Given the description of an element on the screen output the (x, y) to click on. 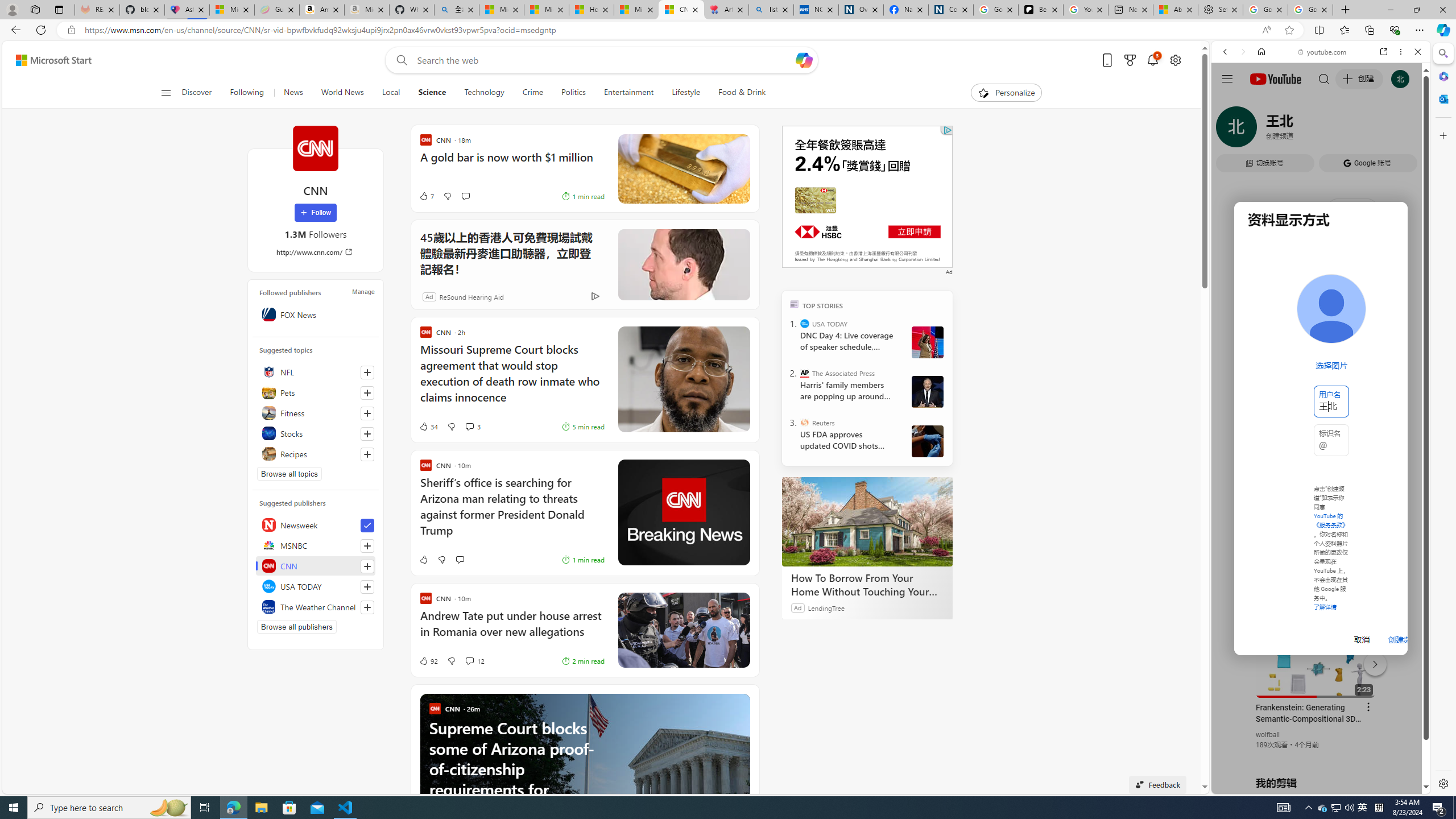
Search Filter, VIDEOS (1300, 129)
Trailer #2 [HD] (1320, 337)
Unfollow this source (367, 525)
you (1315, 755)
The Associated Press (804, 372)
WEB   (1230, 130)
Stocks (315, 433)
